Given the description of an element on the screen output the (x, y) to click on. 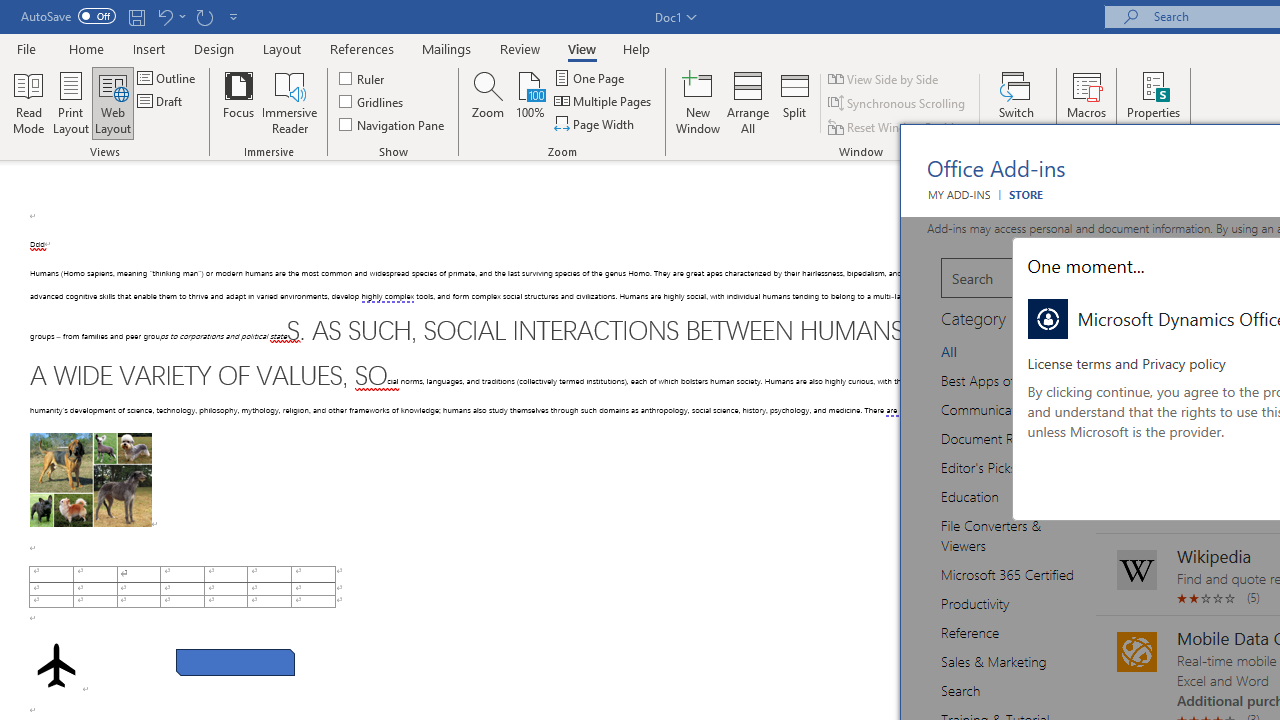
100% (529, 102)
Draft (161, 101)
New Window (698, 102)
Repeat Paragraph Alignment (204, 15)
Ruler (362, 78)
View Side by Side (884, 78)
Airplane with solid fill (56, 665)
Arrange All (747, 102)
